Given the description of an element on the screen output the (x, y) to click on. 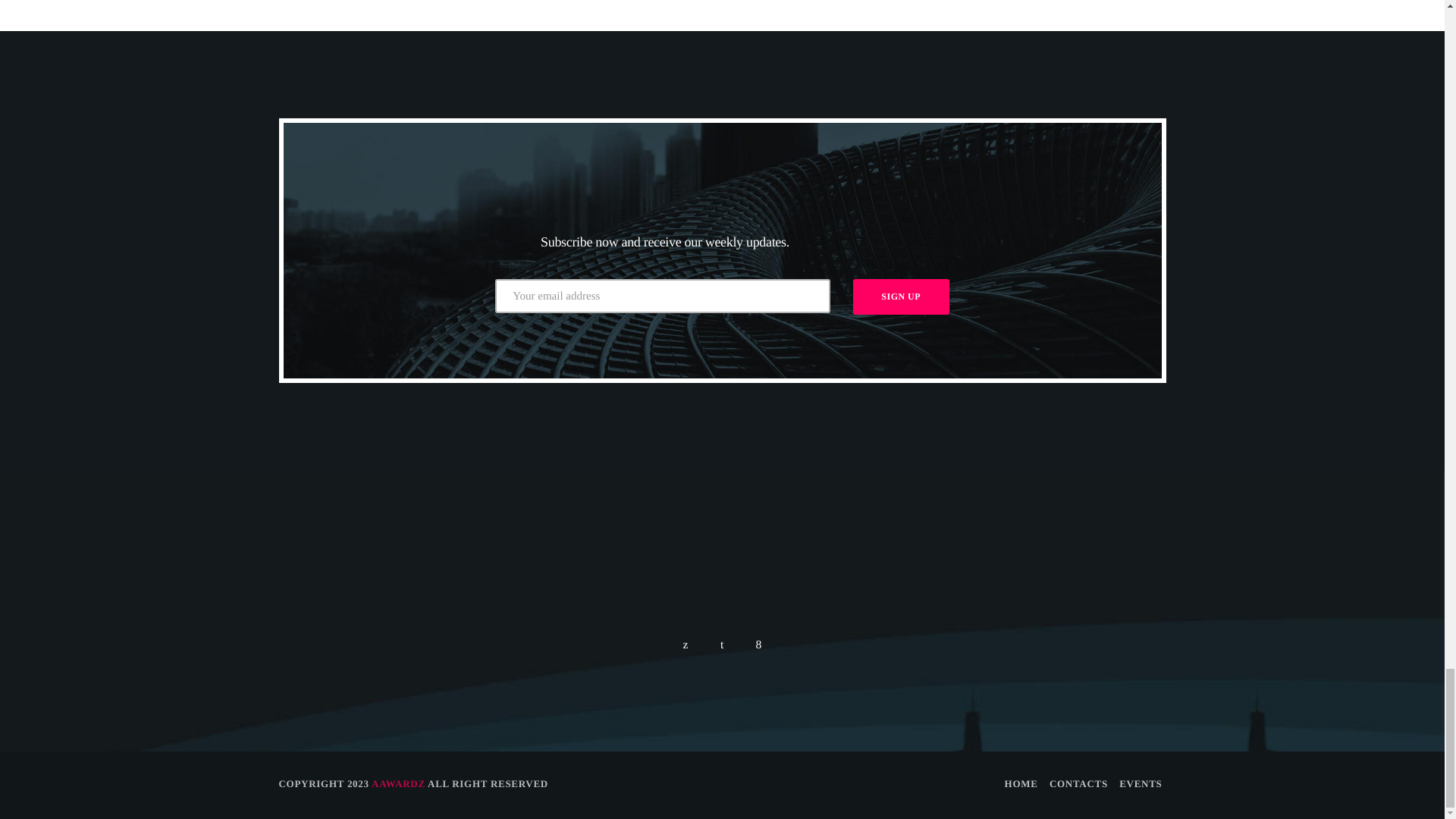
Sign up (901, 296)
